Given the description of an element on the screen output the (x, y) to click on. 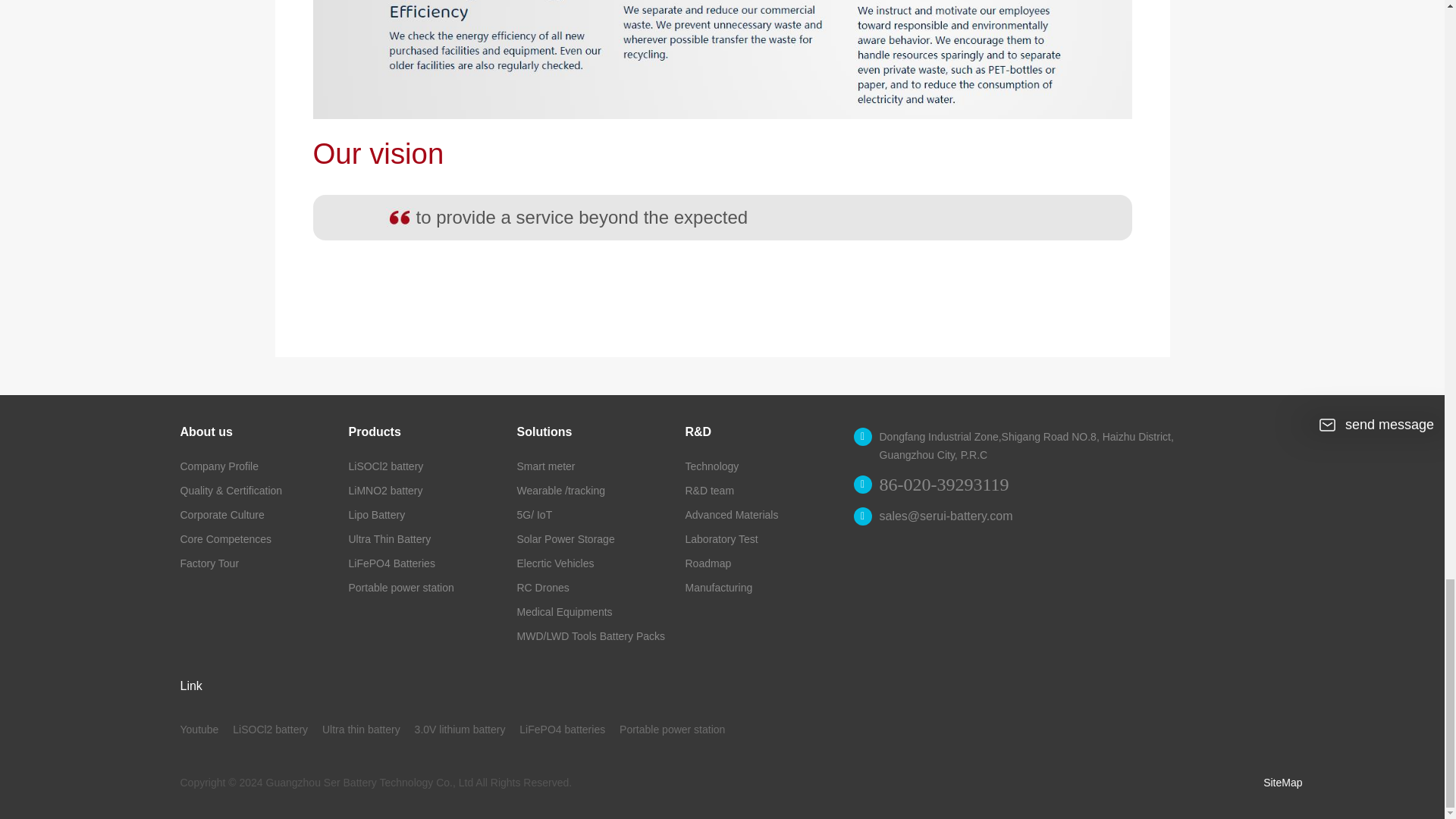
Corporate Culture (222, 514)
Core Competences (226, 539)
Factory Tour (210, 563)
Company Profile (219, 466)
LiSOCl2 battery (386, 466)
Lipo Battery (377, 514)
LiMNO2 battery (386, 490)
Ultra Thin Battery (389, 539)
